Given the description of an element on the screen output the (x, y) to click on. 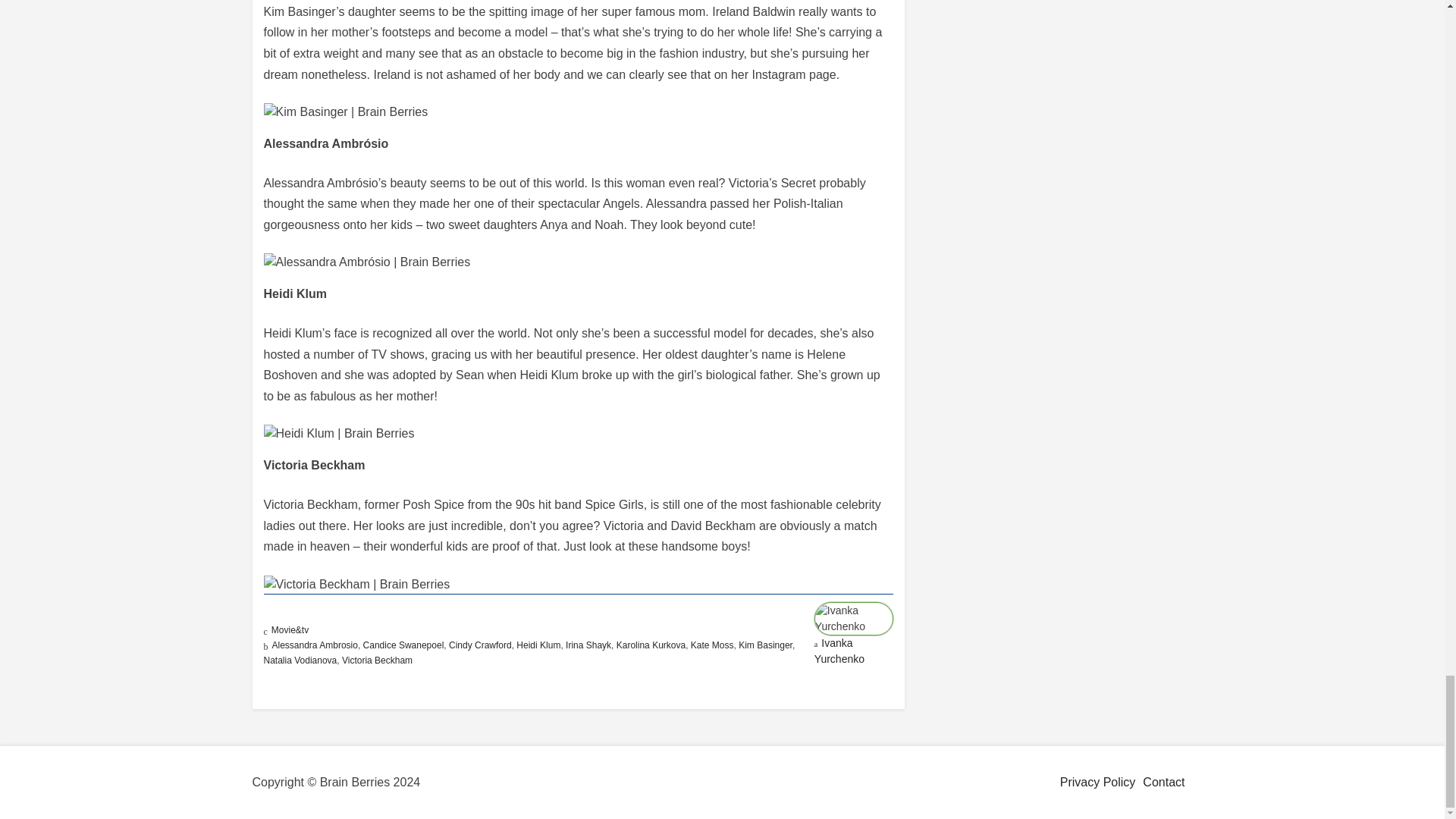
Candice Swanepoel (403, 644)
Cindy Crawford (480, 644)
Alessandra Ambrosio (313, 644)
Heidi Klum (538, 644)
